Given the description of an element on the screen output the (x, y) to click on. 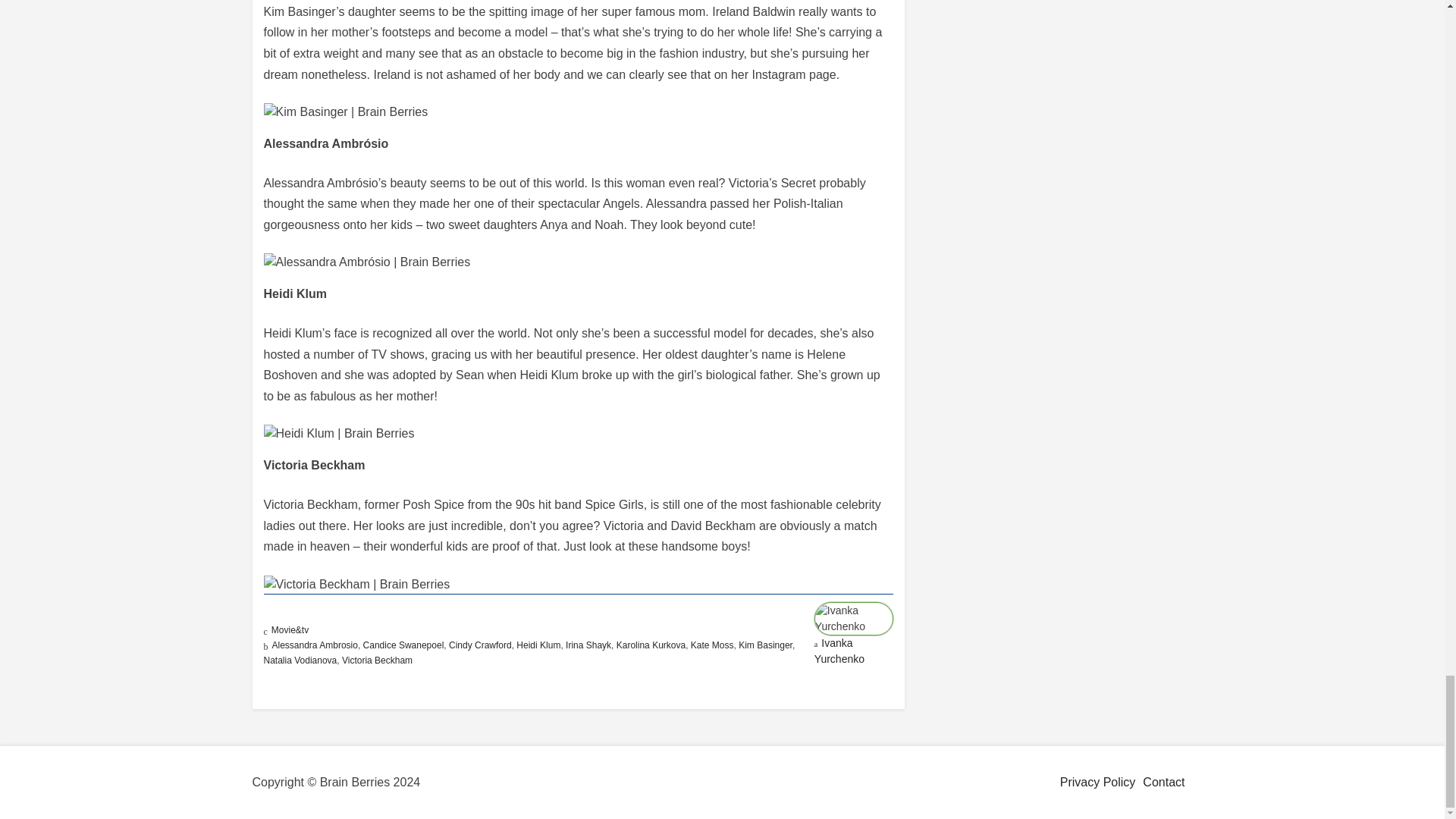
Candice Swanepoel (403, 644)
Cindy Crawford (480, 644)
Alessandra Ambrosio (313, 644)
Heidi Klum (538, 644)
